Given the description of an element on the screen output the (x, y) to click on. 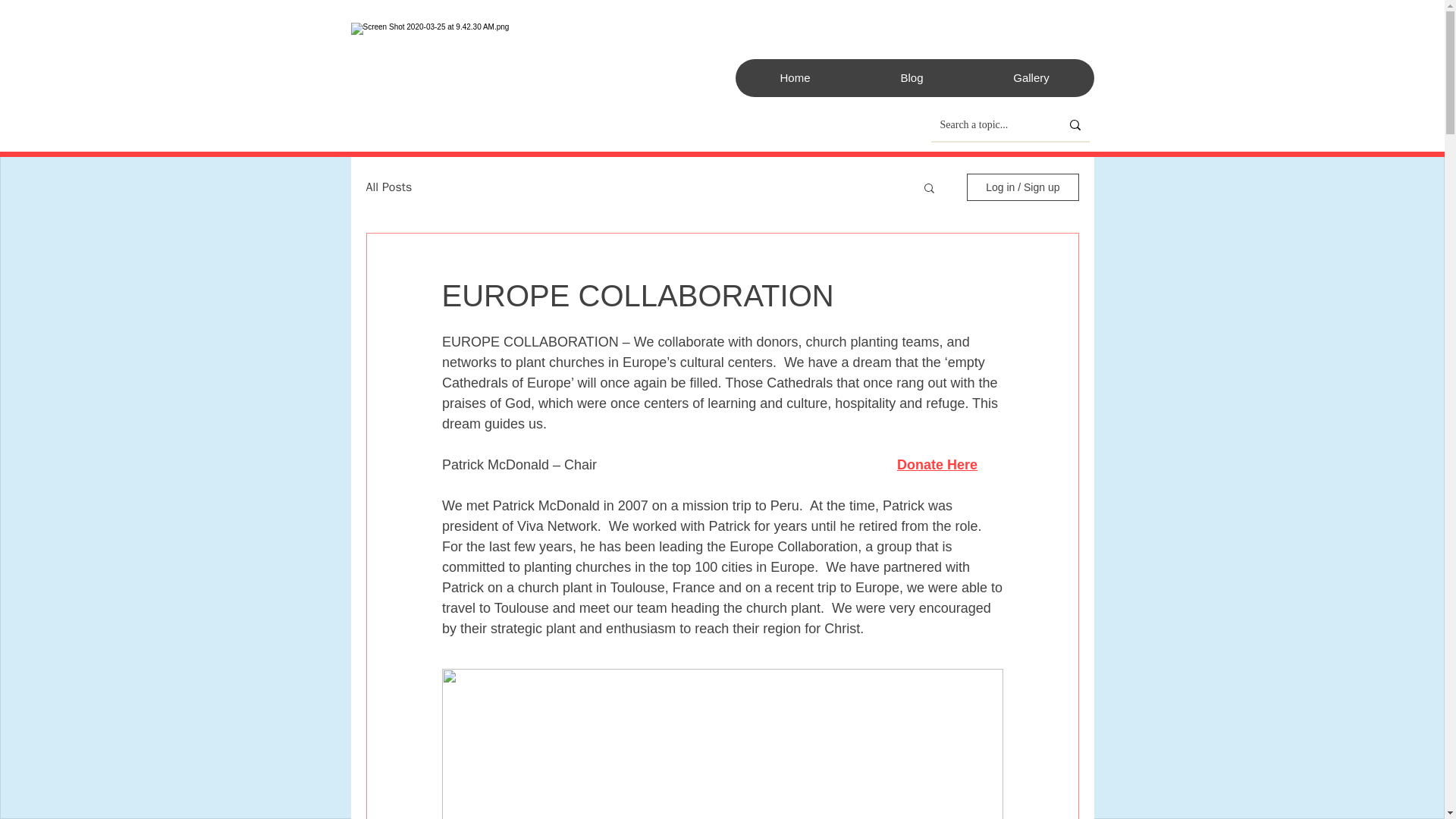
All Posts (388, 186)
Donate Here (936, 464)
Gallery (1030, 77)
Home (795, 77)
Blog (912, 77)
